Given the description of an element on the screen output the (x, y) to click on. 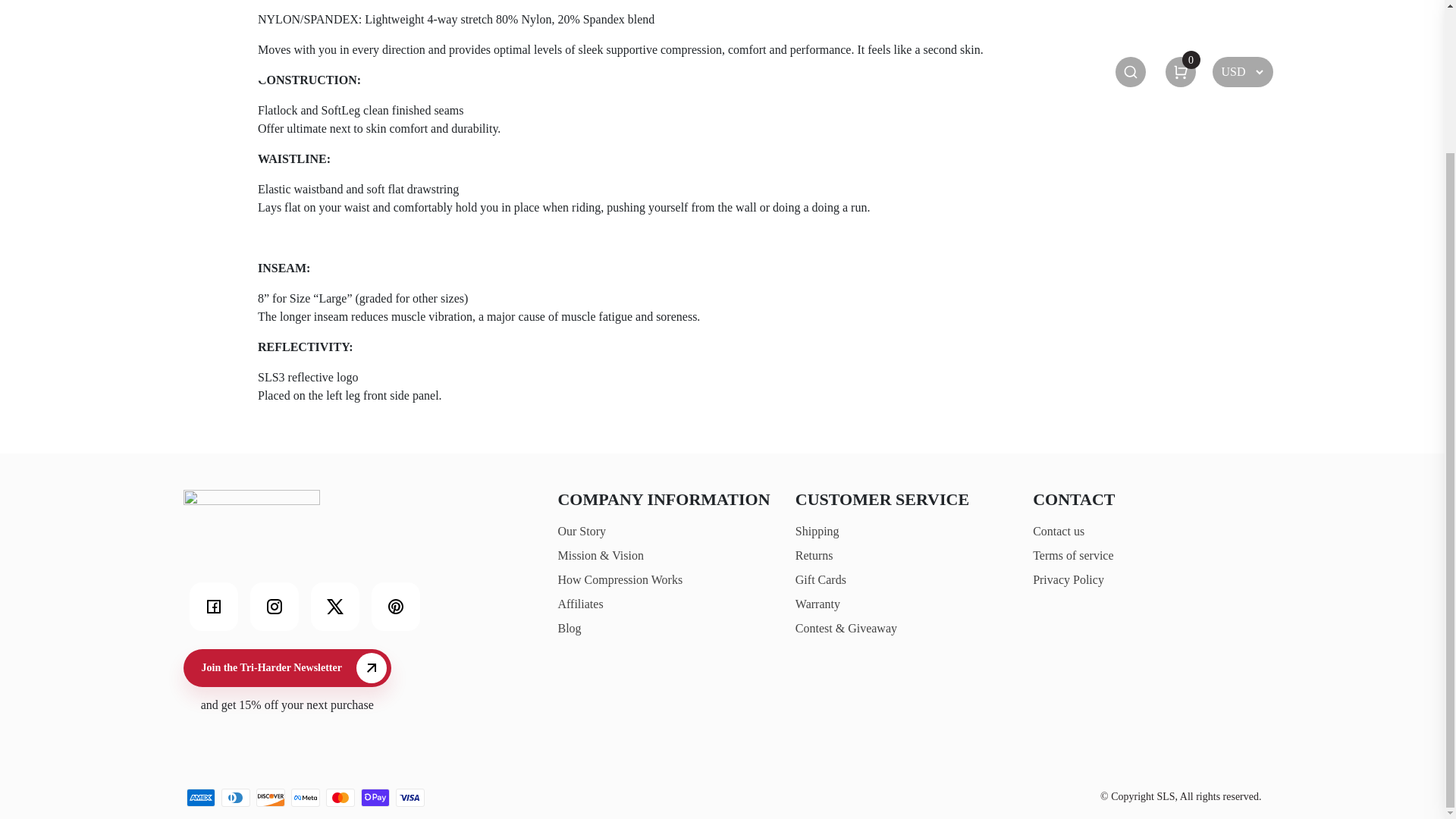
Visa (410, 797)
Shop Pay (375, 797)
American Express (200, 797)
Diners Club (235, 797)
Discover (270, 797)
Mastercard (340, 797)
Meta Pay (305, 797)
